Given the description of an element on the screen output the (x, y) to click on. 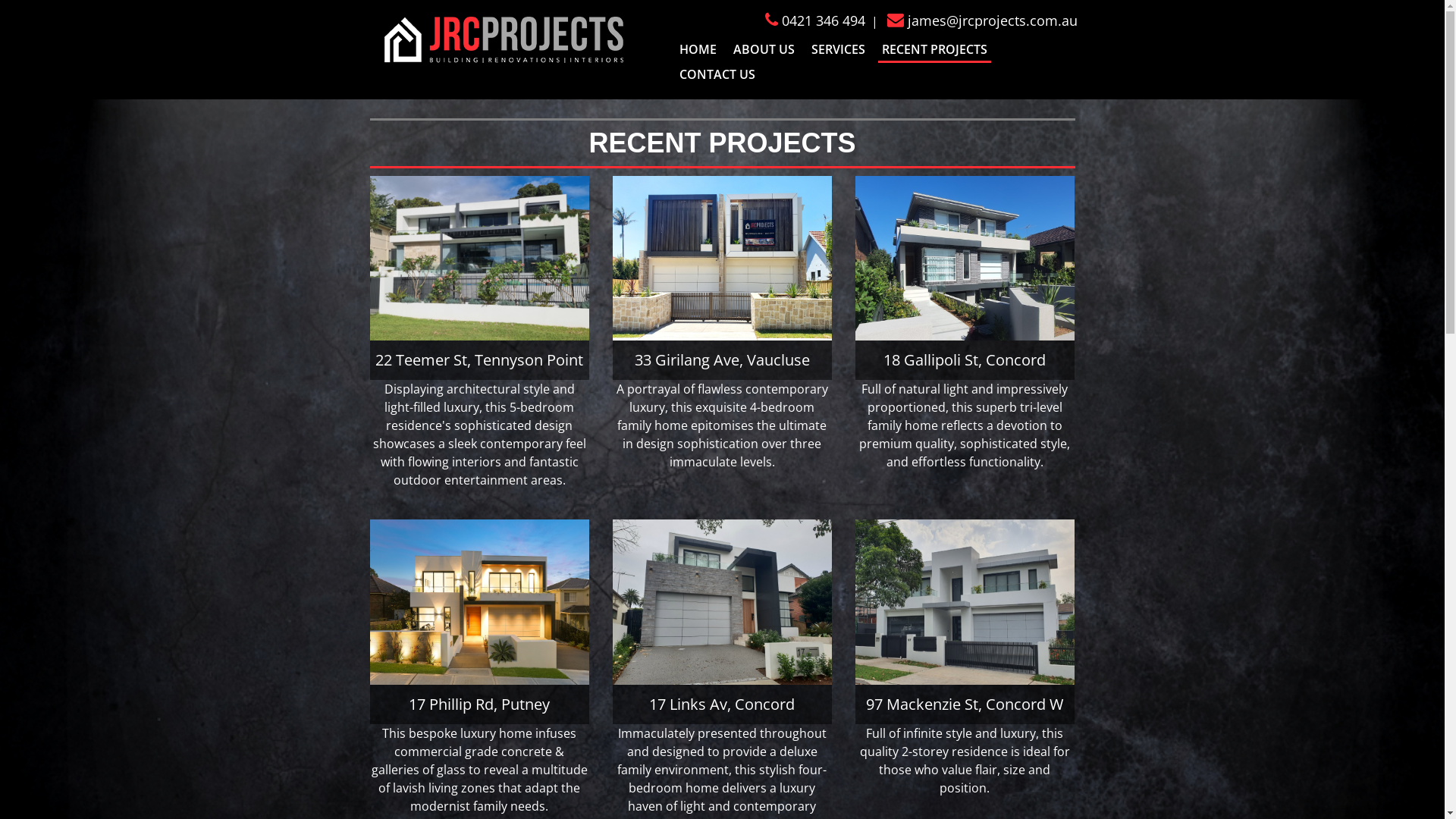
RECENT PROJECTS Element type: text (934, 49)
97 Mackenzie St, Concord W Element type: hover (965, 601)
22 Teemer St, Tennyson Point Element type: hover (479, 257)
33 Girilang Ave, Vaucluse Element type: hover (722, 257)
 0421 346 494 Element type: text (814, 20)
17 Phillip Rd, Putney Element type: hover (479, 601)
 james@jrcprojects.com.au Element type: text (982, 20)
18 Gallipoli St, Concord Element type: hover (965, 257)
CONTACT US Element type: text (717, 74)
HOME Element type: text (697, 49)
SERVICES Element type: text (838, 49)
ABOUT US Element type: text (763, 49)
17 Links Av, Concord Element type: hover (722, 601)
